Given the description of an element on the screen output the (x, y) to click on. 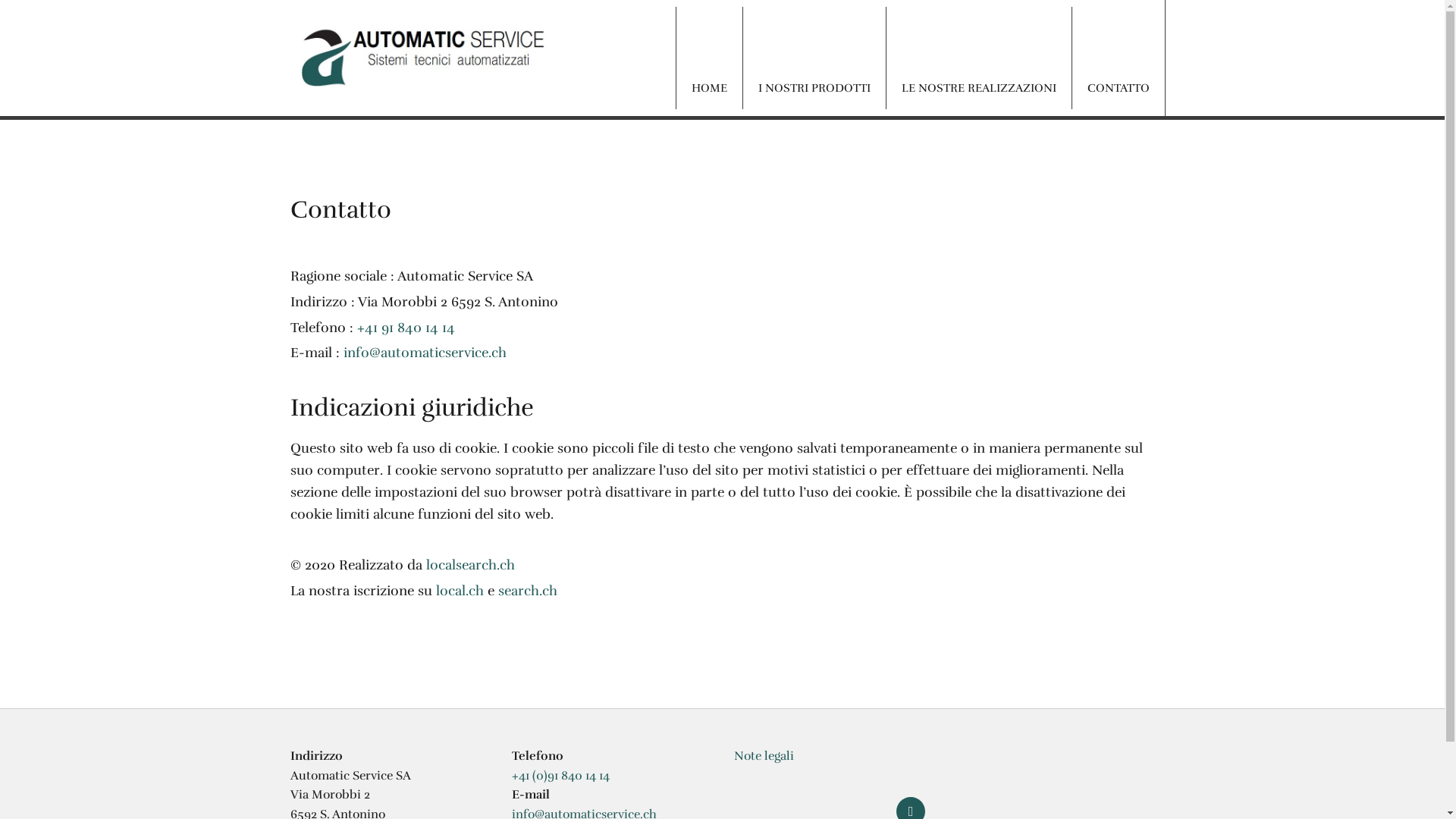
search.ch Element type: text (526, 590)
CONTATTO Element type: text (1117, 57)
localsearch.ch Element type: text (470, 564)
local.ch Element type: text (459, 590)
HOME Element type: text (708, 57)
info@automaticservice.ch Element type: text (423, 352)
+41 91 840 14 14 Element type: text (405, 327)
+41 (0)91 840 14 14 Element type: text (560, 775)
LE NOSTRE REALIZZAZIONI Element type: text (978, 57)
Note legali Element type: text (763, 755)
I NOSTRI PRODOTTI Element type: text (813, 57)
